Given the description of an element on the screen output the (x, y) to click on. 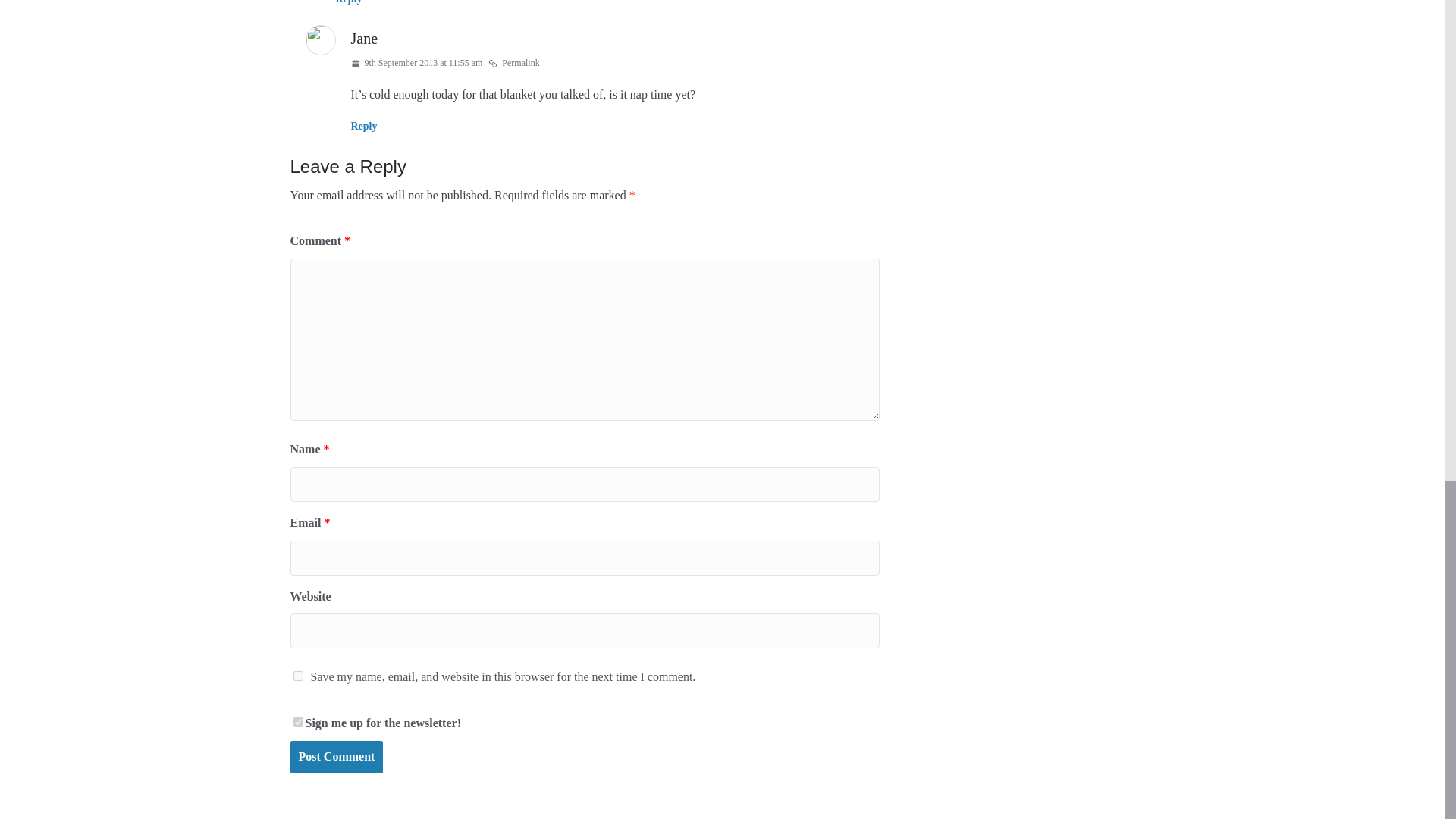
yes (297, 675)
Jane (363, 38)
Permalink (512, 63)
Reply (363, 125)
Post Comment (335, 757)
1 (297, 722)
Post Comment (335, 757)
Reply (347, 2)
